Given the description of an element on the screen output the (x, y) to click on. 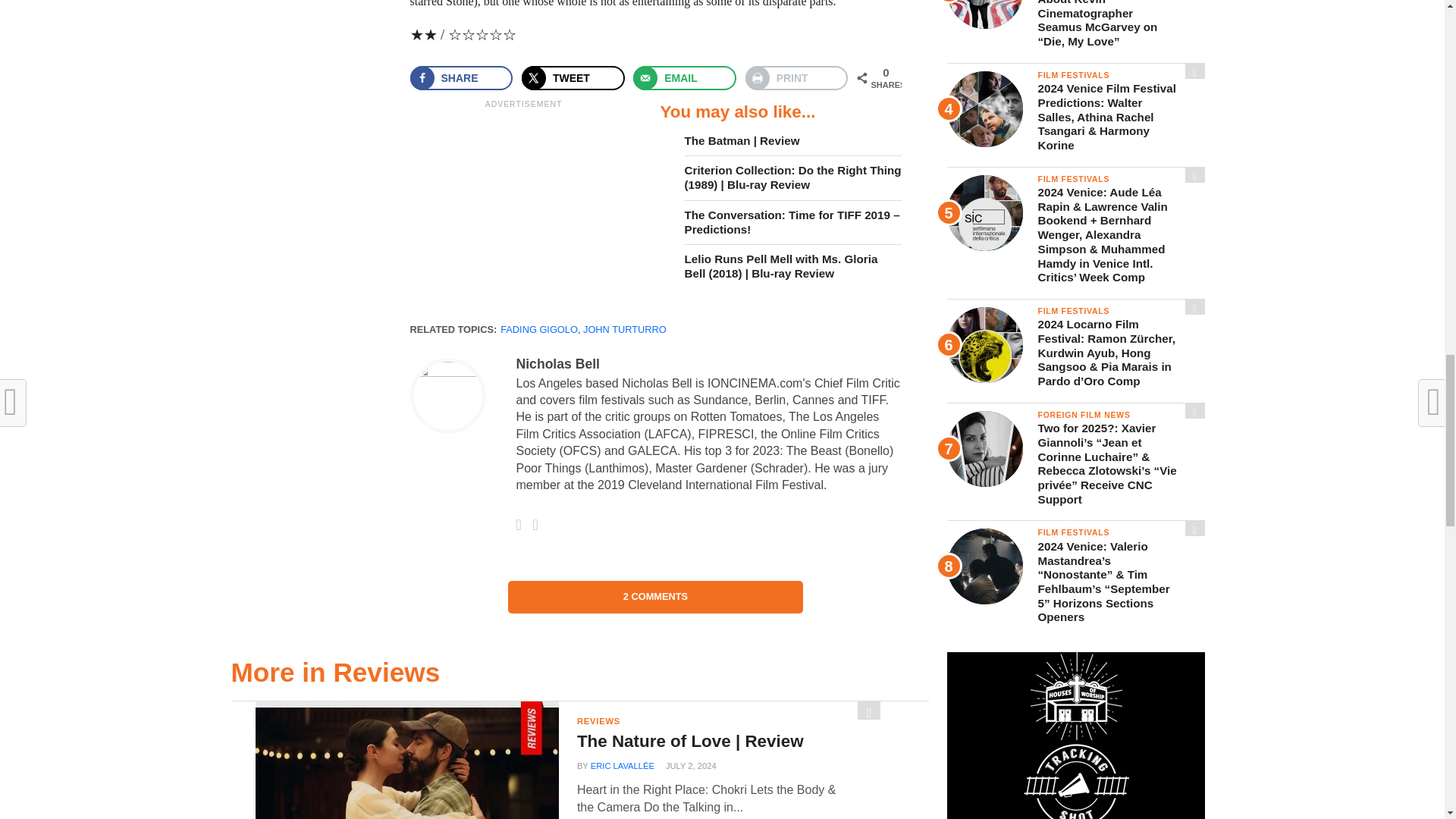
Share on Facebook (460, 78)
Share on X (572, 78)
Send over email (684, 78)
Print this webpage (796, 78)
